Given the description of an element on the screen output the (x, y) to click on. 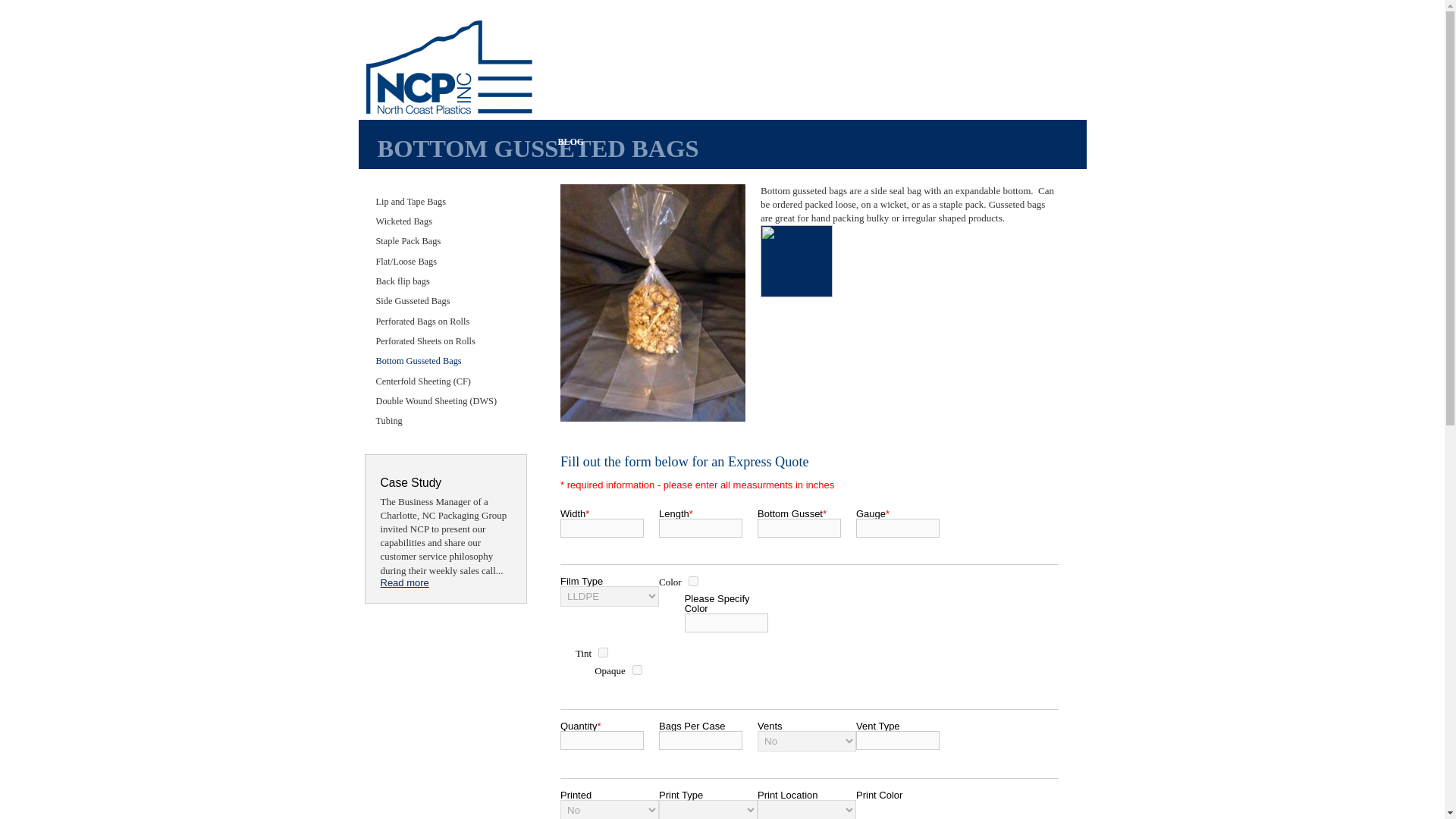
Perforated Sheets on Rolls (445, 341)
Read more (404, 582)
ABOUT NCP (903, 86)
HOME (572, 86)
QUOTE (824, 86)
Bottom Gusseted Bags (445, 361)
Back flip bags (445, 281)
Lip and Tape Bags (445, 201)
Tubing (445, 420)
Side Gusseted Bags (445, 301)
Staple Pack Bags (445, 240)
Opaque (636, 669)
Tint (603, 652)
Get In Touch (957, 28)
PRODUCTS (647, 86)
